Given the description of an element on the screen output the (x, y) to click on. 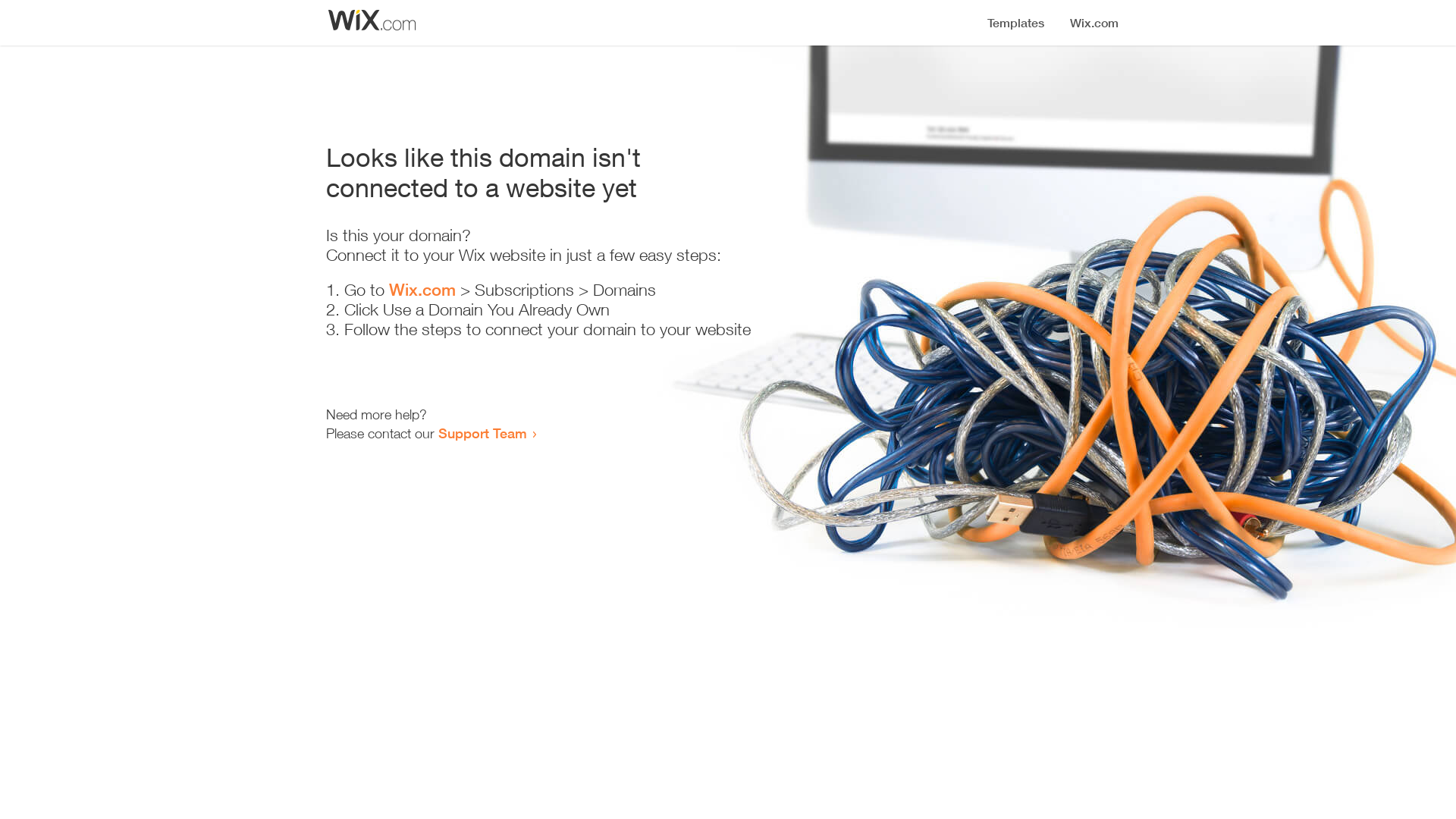
Support Team Element type: text (482, 432)
Wix.com Element type: text (422, 289)
